Given the description of an element on the screen output the (x, y) to click on. 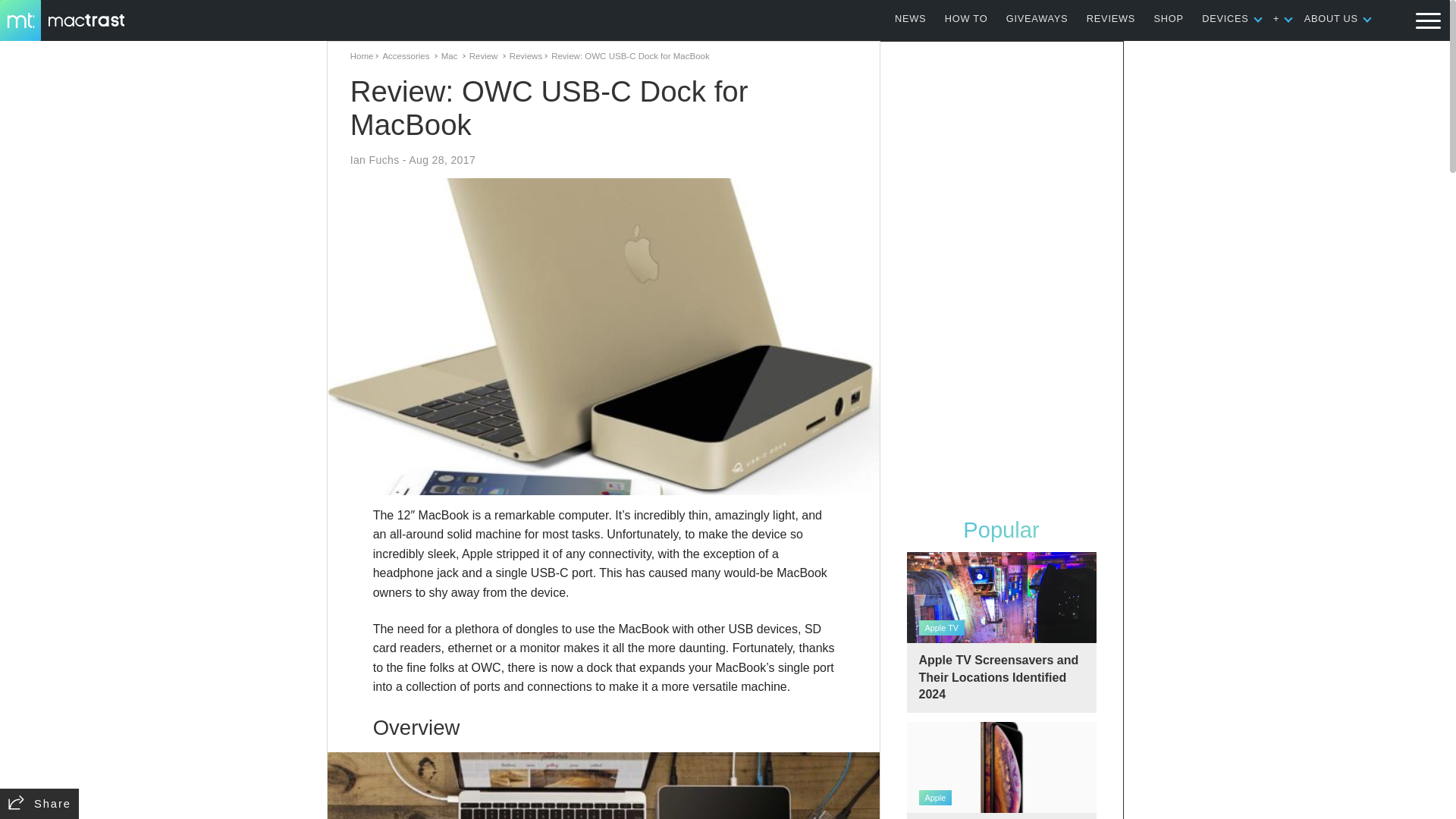
GIVEAWAYS (1037, 18)
DEVICES (1224, 18)
Apple TV Screensavers and Their Locations Identified 2024 (1001, 632)
ABOUT US (1331, 18)
NEWS (910, 18)
SHOP (1168, 18)
REVIEWS (1110, 18)
iPhone XS and XS Max Wallpapers in High Quality for Download (1001, 770)
Posts by Ian Fuchs (374, 159)
